Given the description of an element on the screen output the (x, y) to click on. 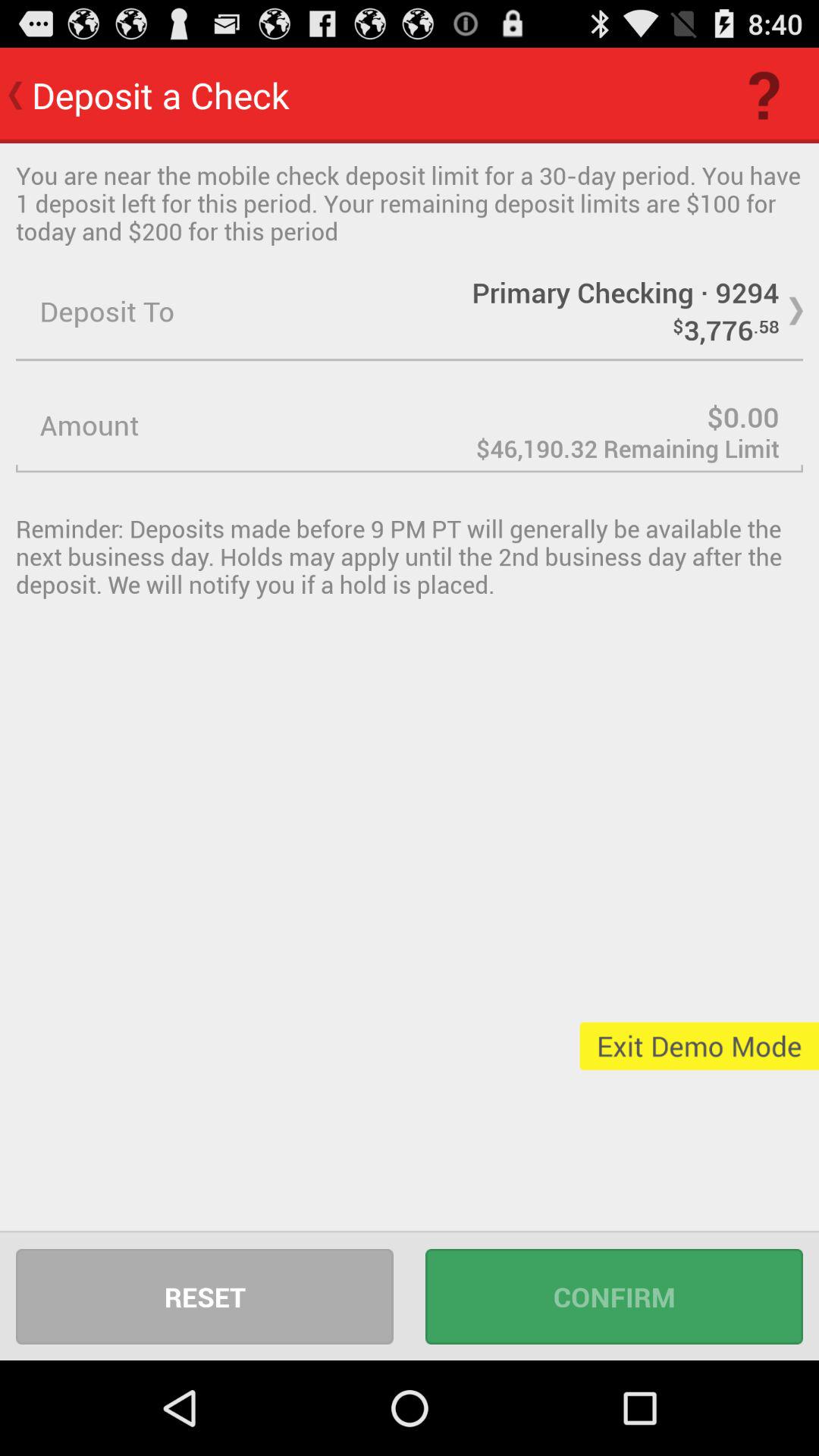
press item at the bottom left corner (204, 1296)
